Given the description of an element on the screen output the (x, y) to click on. 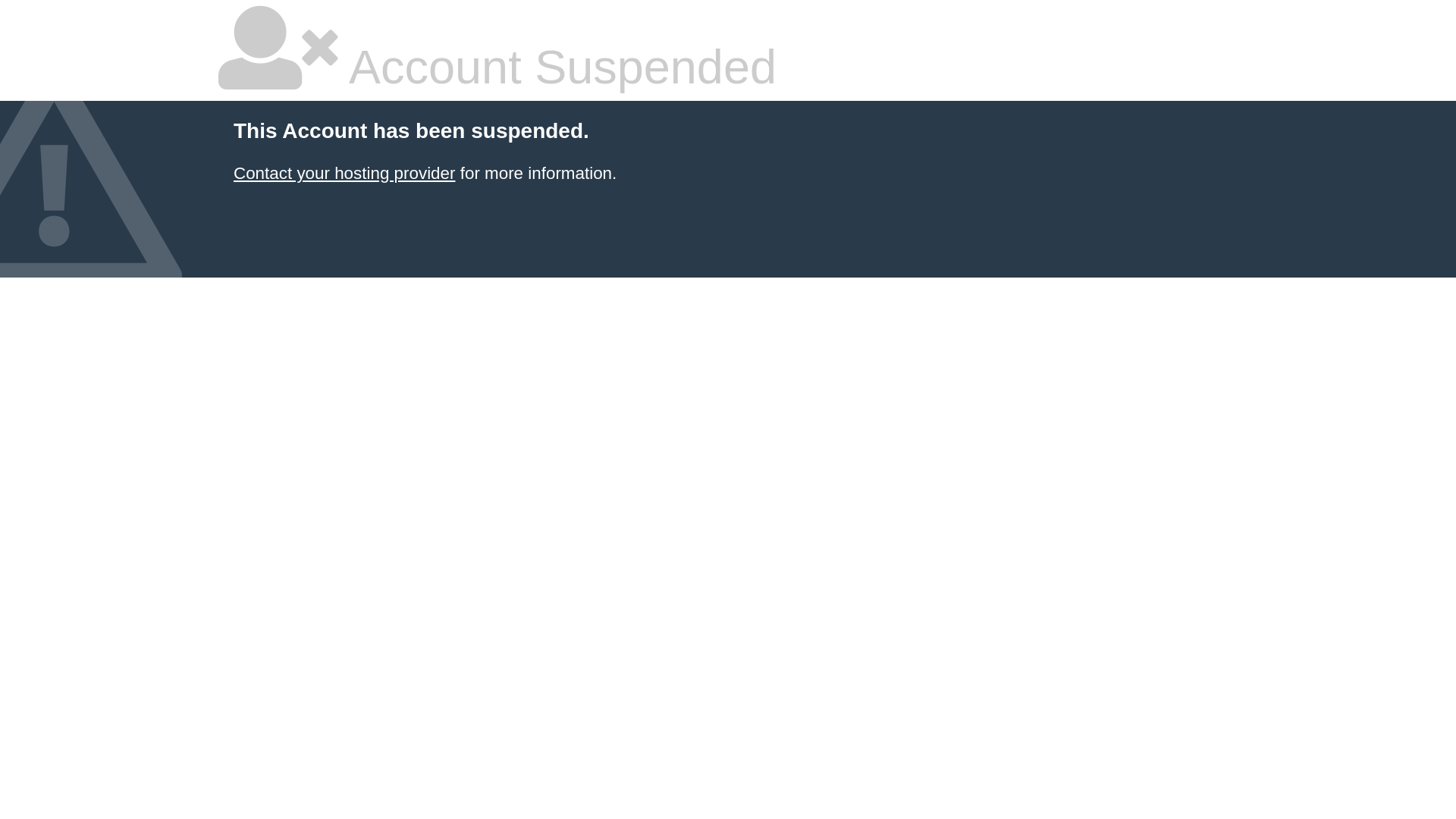
Contact your hosting provider Element type: text (344, 172)
